Given the description of an element on the screen output the (x, y) to click on. 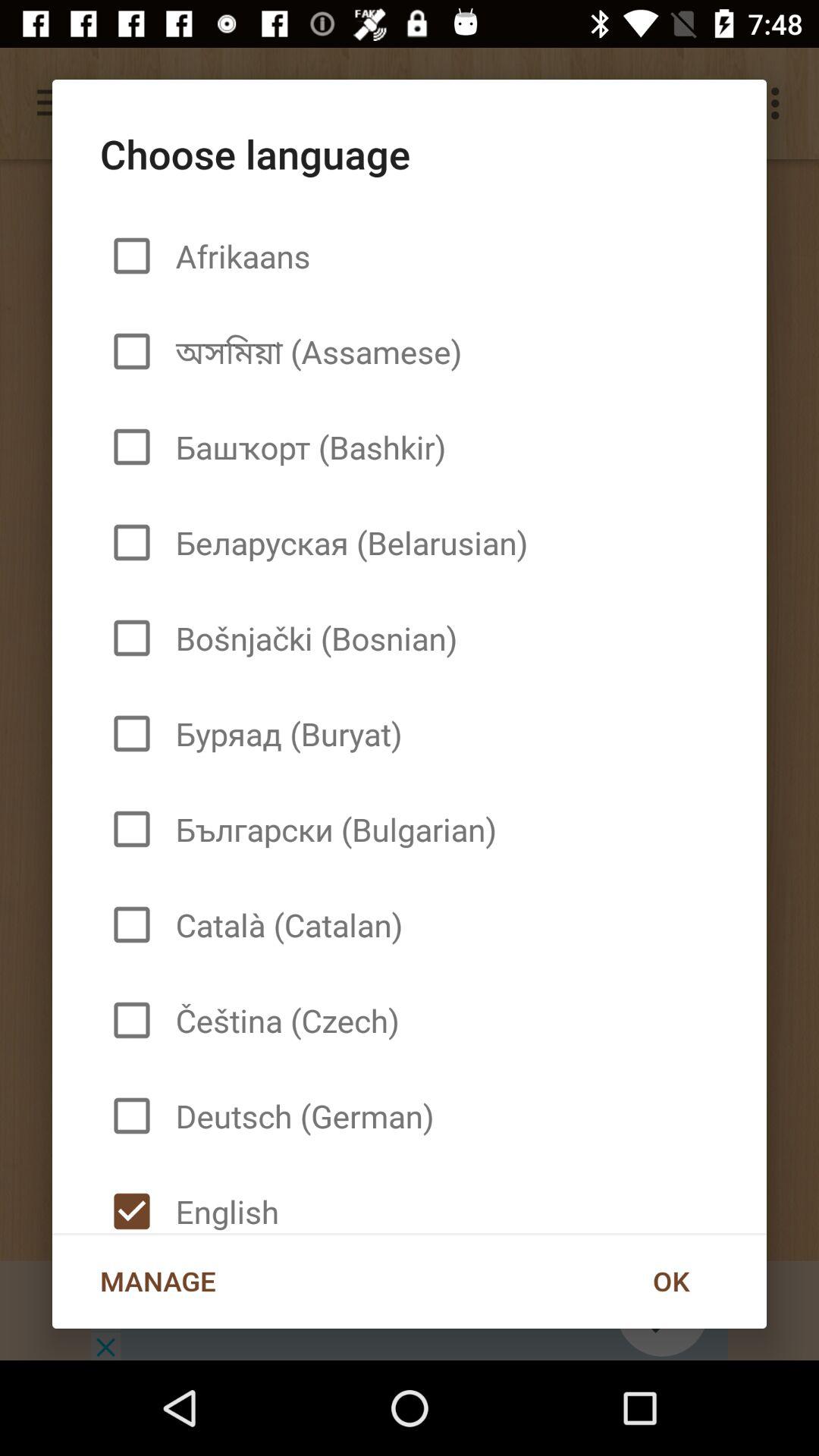
turn off item below choose language icon (670, 1280)
